Given the description of an element on the screen output the (x, y) to click on. 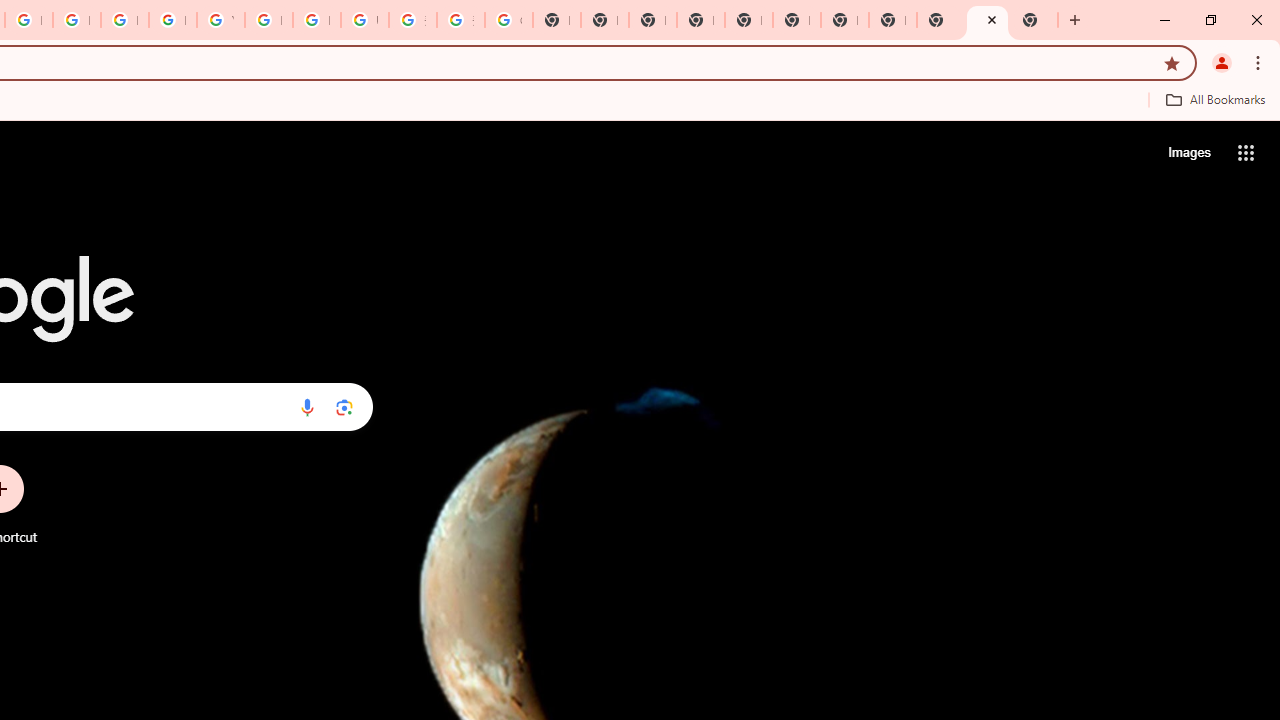
New Tab (700, 20)
New Tab (1034, 20)
Google Images (508, 20)
Privacy Help Center - Policies Help (76, 20)
